Given the description of an element on the screen output the (x, y) to click on. 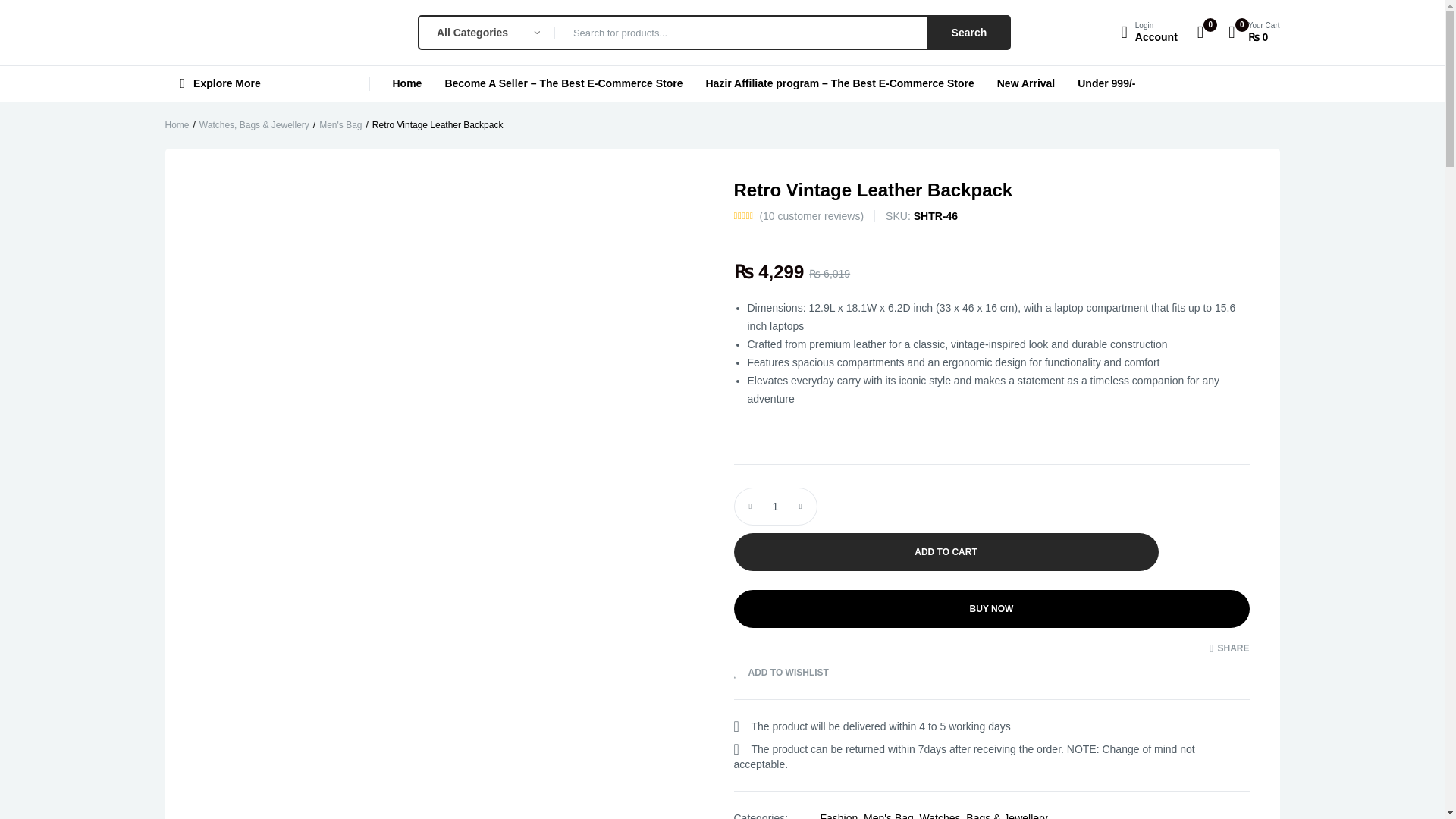
1 (1148, 32)
Explore More (774, 506)
Search (267, 83)
